Given the description of an element on the screen output the (x, y) to click on. 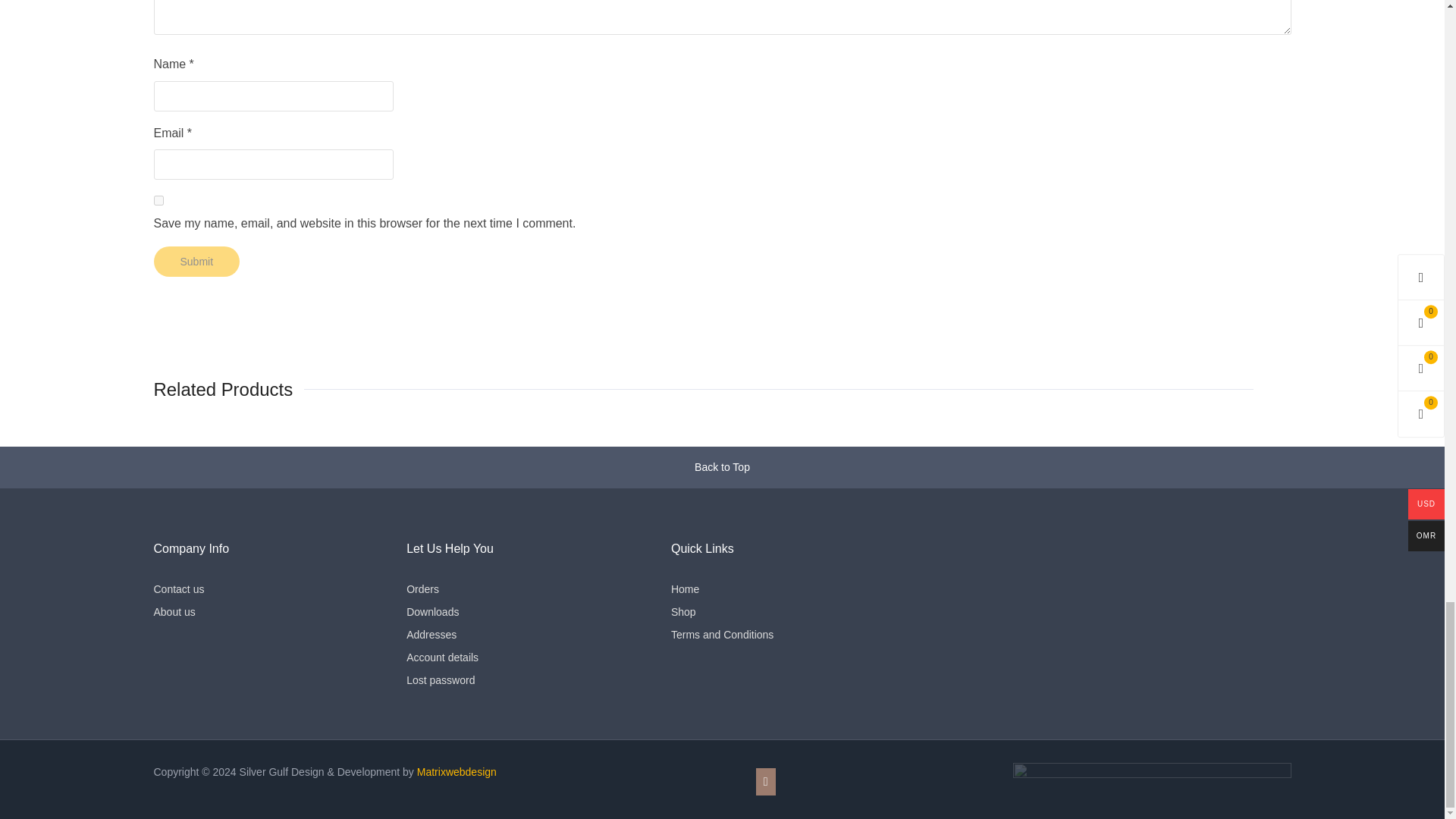
Submit (196, 261)
yes (157, 200)
Submit (196, 261)
